Given the description of an element on the screen output the (x, y) to click on. 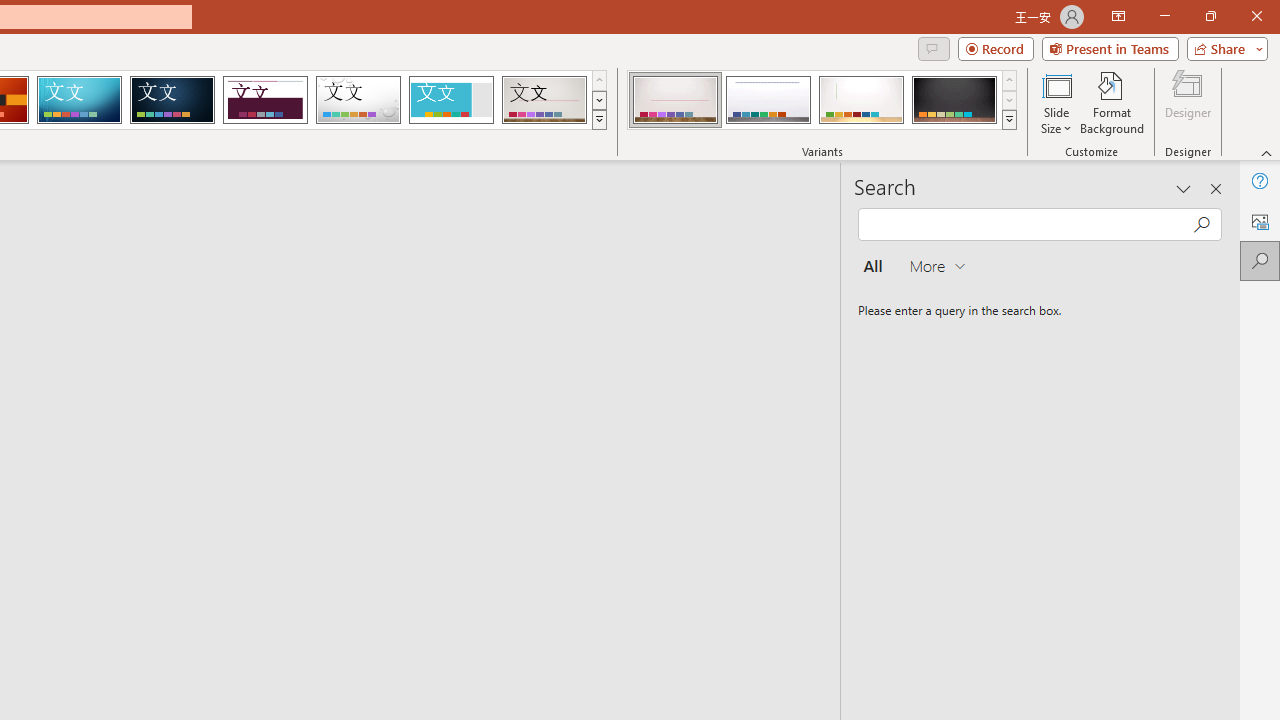
Format Background (1111, 102)
